Given the description of an element on the screen output the (x, y) to click on. 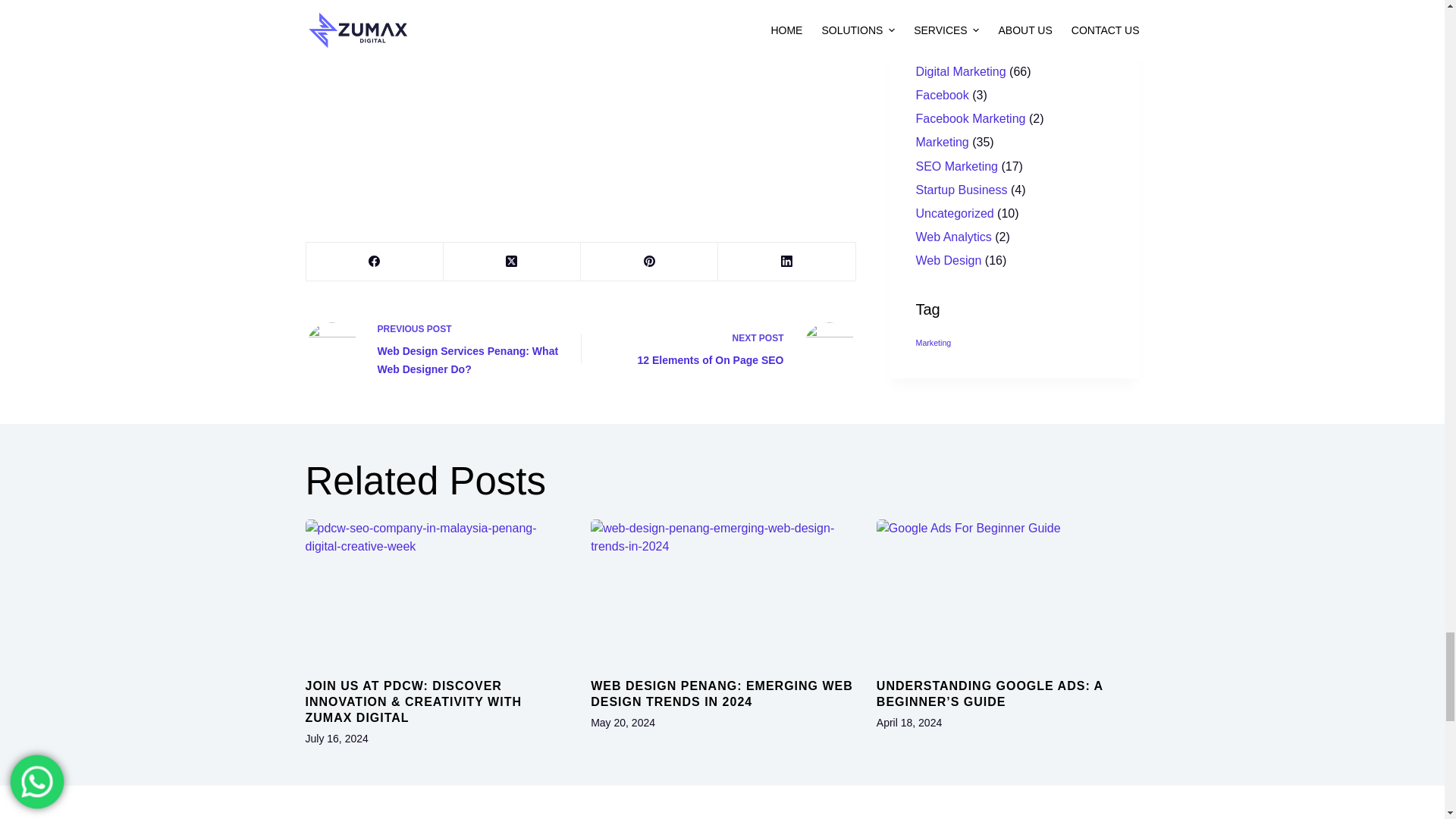
017-7885471 (600, 2)
